Given the description of an element on the screen output the (x, y) to click on. 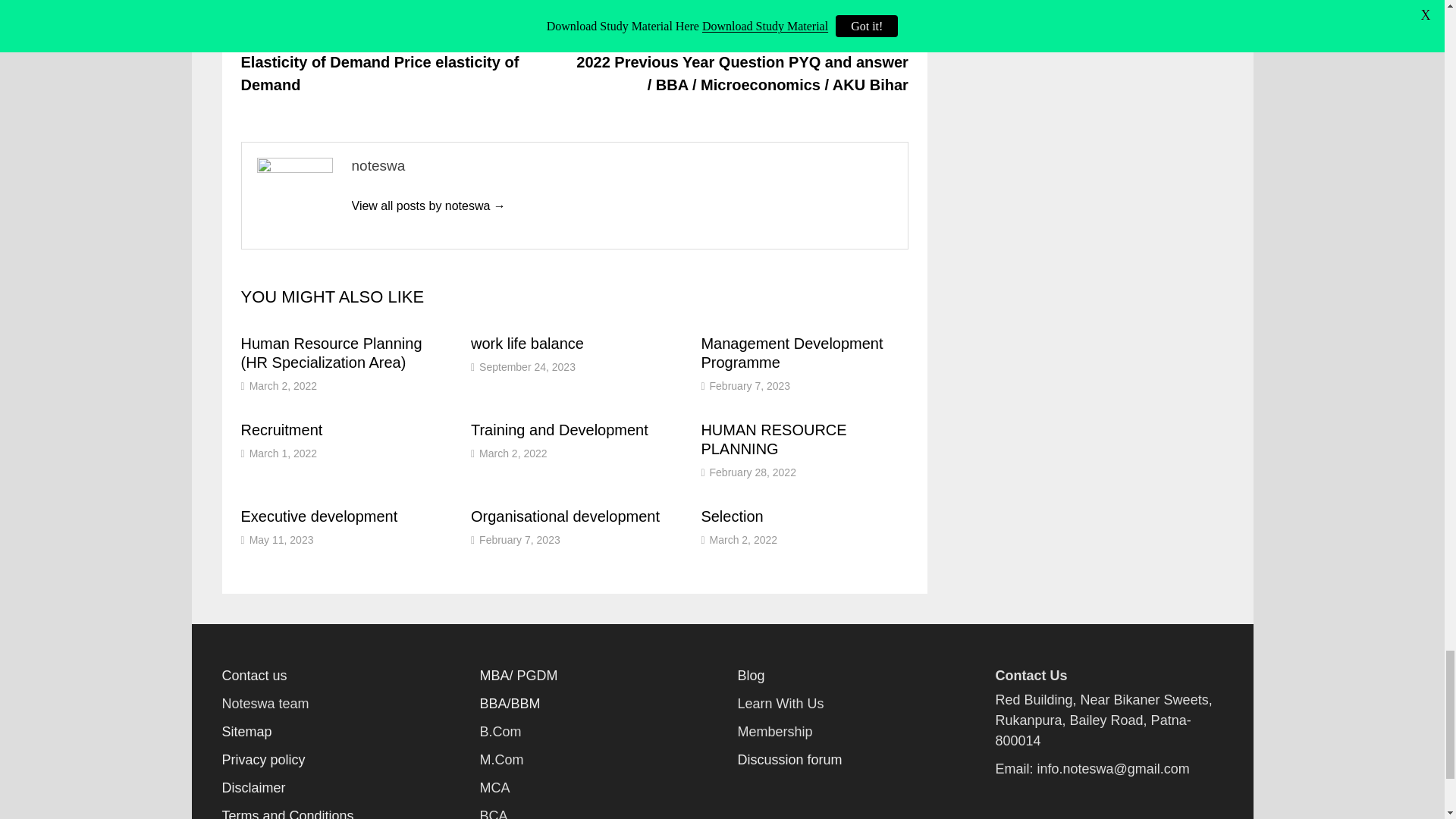
Executive development (319, 515)
Management Development Programme (791, 352)
Recruitment (282, 429)
Training  and Development (558, 429)
noteswa (428, 205)
Selection (731, 515)
work life balance (526, 343)
Organisational development (564, 515)
HUMAN RESOURCE PLANNING (772, 439)
